Given the description of an element on the screen output the (x, y) to click on. 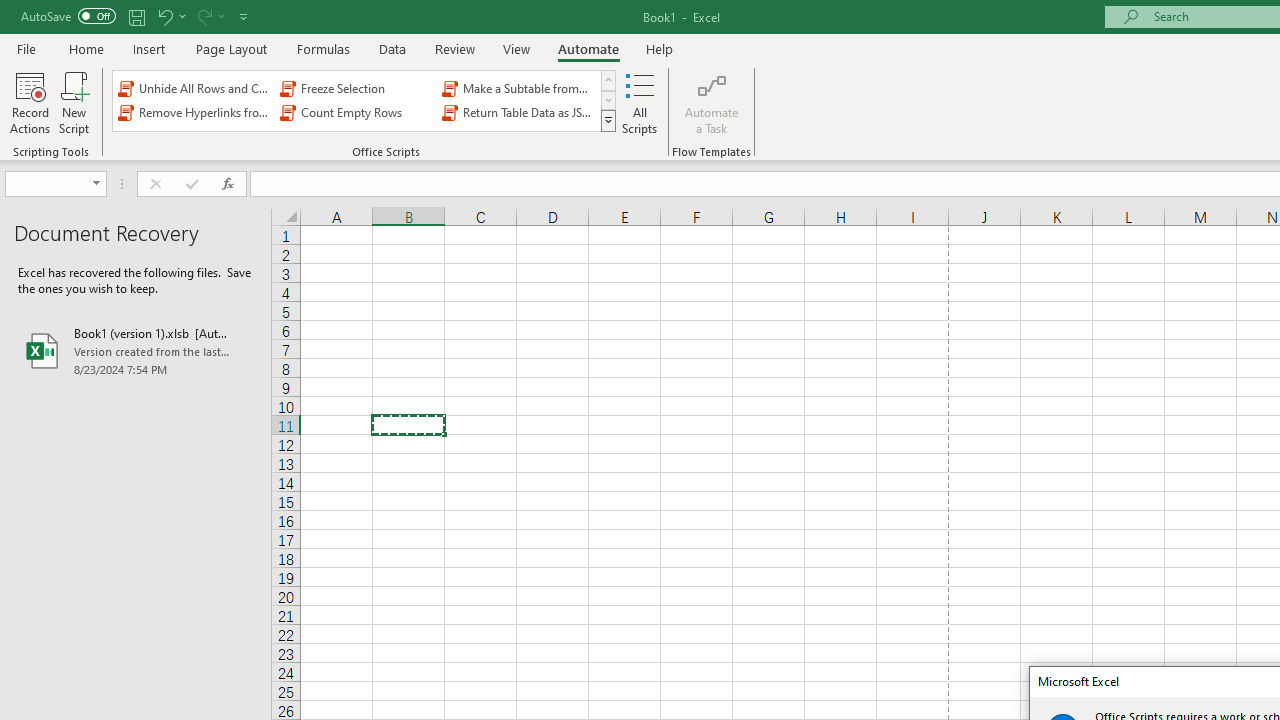
Formulas (323, 48)
Save (136, 15)
Customize Quick Access Toolbar (244, 15)
AutomationID: OfficeScriptsGallery (365, 100)
Review (454, 48)
Return Table Data as JSON (518, 112)
Unhide All Rows and Columns (194, 88)
Freeze Selection (356, 88)
